Given the description of an element on the screen output the (x, y) to click on. 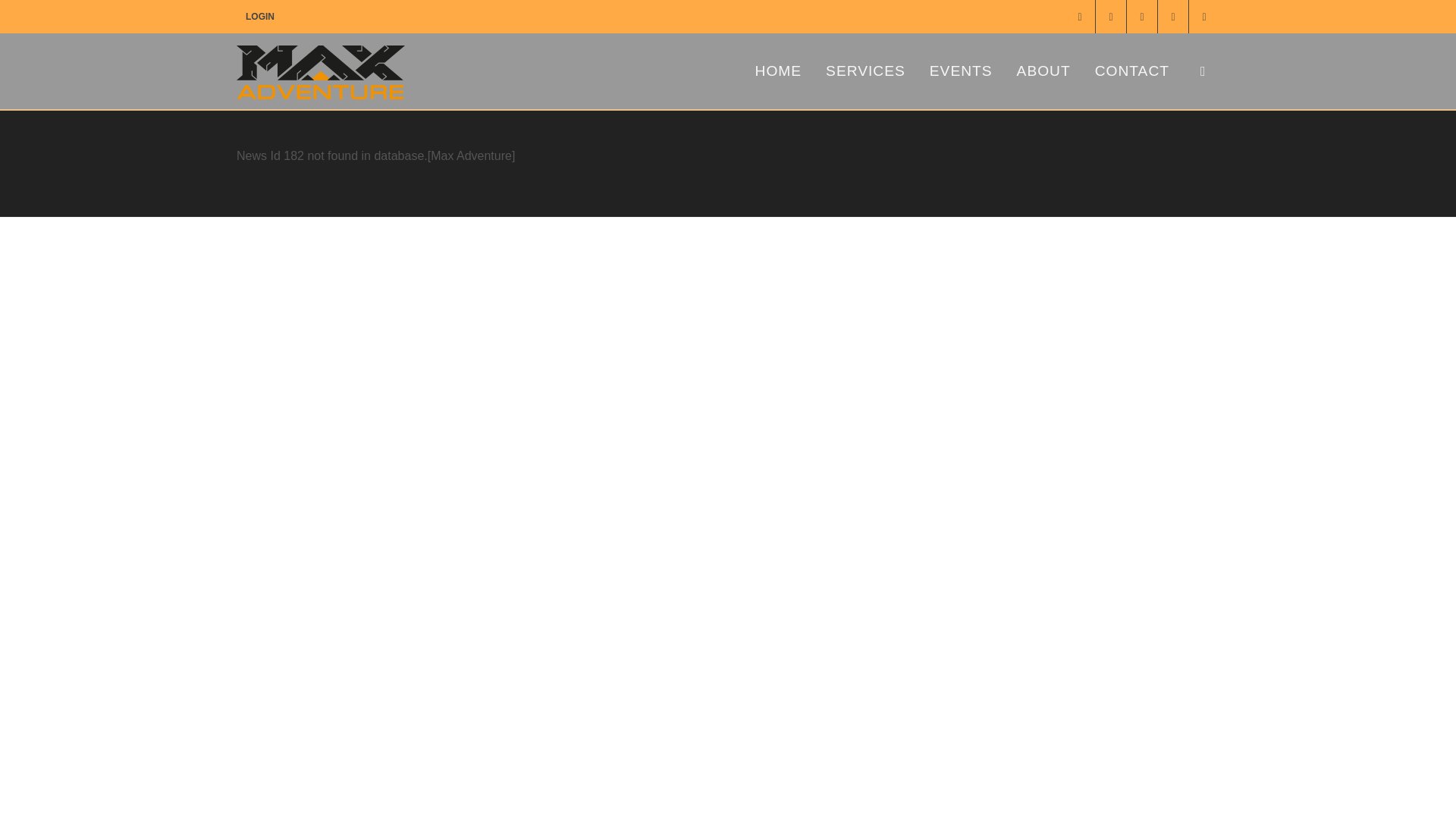
LOGIN (259, 16)
SERVICES (865, 70)
CONTACT (1131, 70)
EVENTS (961, 70)
ABOUT (1043, 70)
HOME (778, 70)
